Given the description of an element on the screen output the (x, y) to click on. 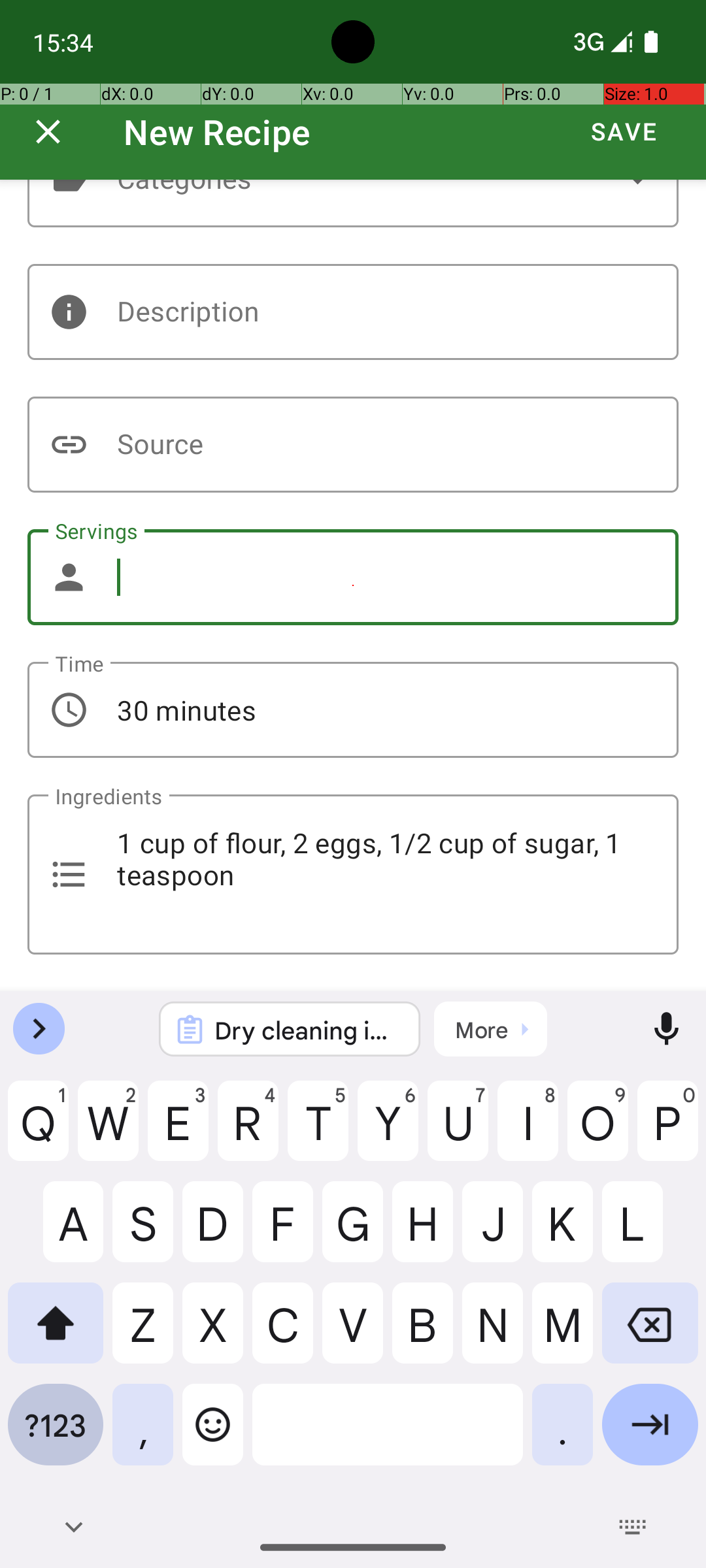
30 minutes Element type: android.widget.EditText (352, 709)
1 cup of flour, 2 eggs, 1/2 cup of sugar, 1 teaspoon
 Element type: android.widget.EditText (352, 874)
Dry cleaning is ready for pick-up. Element type: android.widget.TextView (306, 1029)
